Given the description of an element on the screen output the (x, y) to click on. 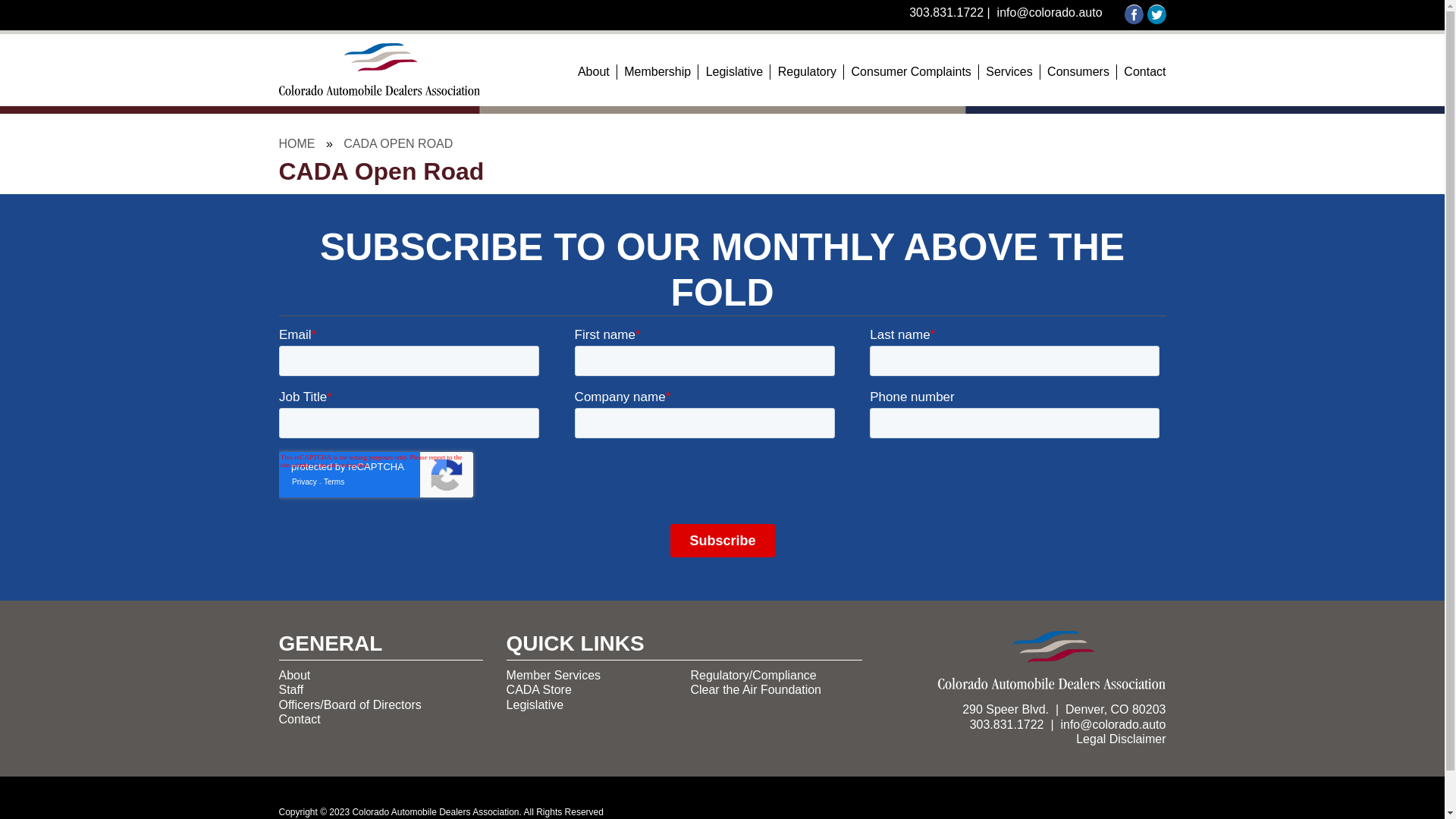
303.831.1722 Element type: text (946, 12)
Staff Element type: text (291, 689)
Consumer Complaints Element type: text (911, 71)
CADA Store Element type: text (538, 689)
Home Element type: hover (379, 86)
Membership Element type: text (657, 71)
Regulatory Element type: text (807, 71)
Officers/Board of Directors Element type: text (350, 704)
Legal Disclaimer Element type: text (1120, 738)
info@colorado.auto Element type: text (1112, 724)
Services Element type: text (1008, 71)
info@colorado.auto Element type: text (1049, 12)
Form 0 Element type: hover (722, 448)
Clear the Air Foundation Element type: text (755, 689)
Legislative Element type: text (734, 71)
HOME Element type: text (297, 143)
CADA OPEN ROAD Element type: text (397, 143)
About Element type: text (294, 674)
Regulatory/Compliance Element type: text (752, 674)
Legislative Element type: text (535, 704)
Contact Element type: text (299, 718)
Member Services Element type: text (553, 674)
Consumers Element type: text (1078, 71)
About Element type: text (593, 71)
Contact Element type: text (1140, 71)
303.831.1722 Element type: text (1006, 724)
